Given the description of an element on the screen output the (x, y) to click on. 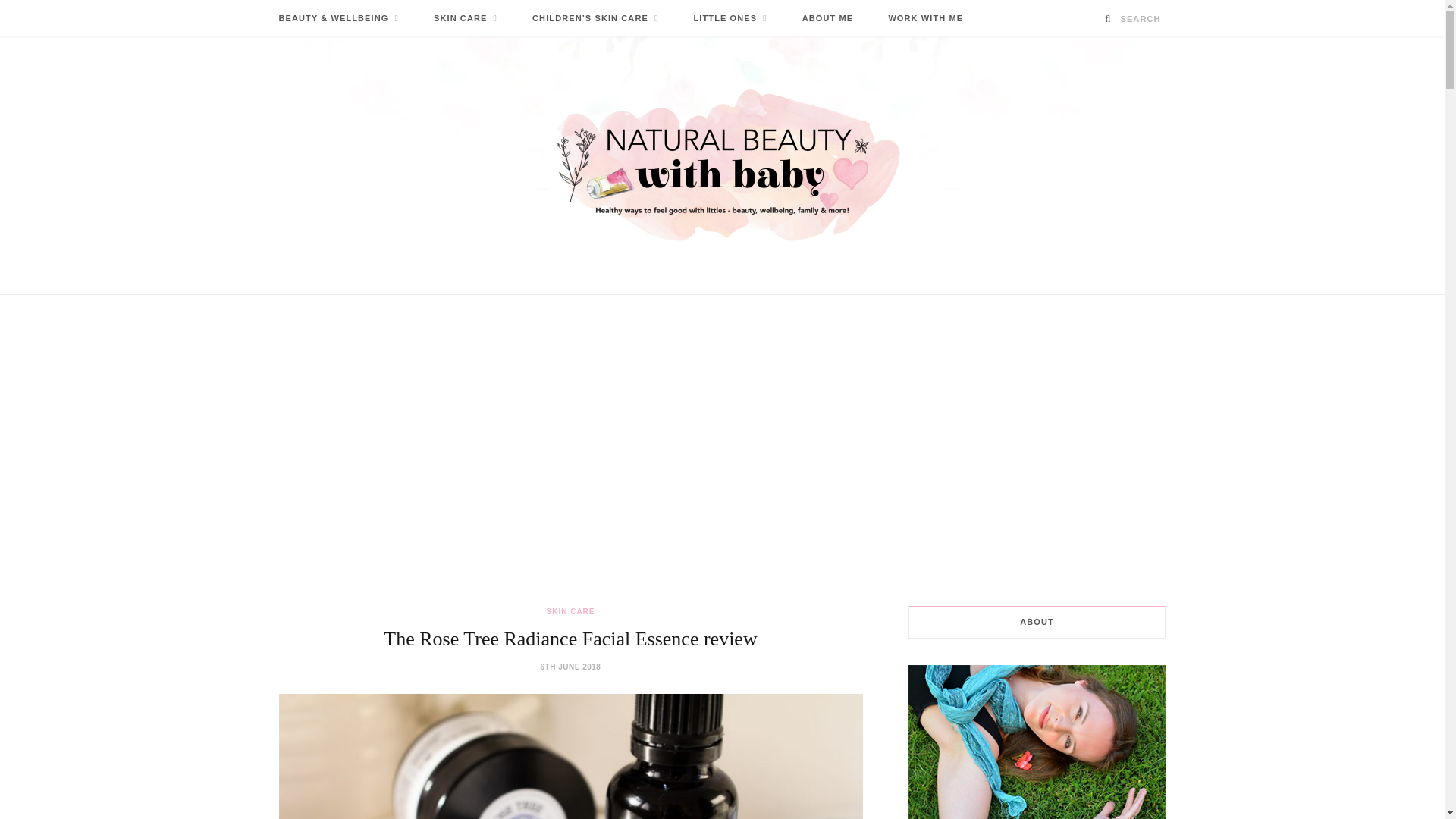
Natural Beauty with Baby (721, 164)
The Rose Tree Radiance Facial Essence review (571, 756)
